Given the description of an element on the screen output the (x, y) to click on. 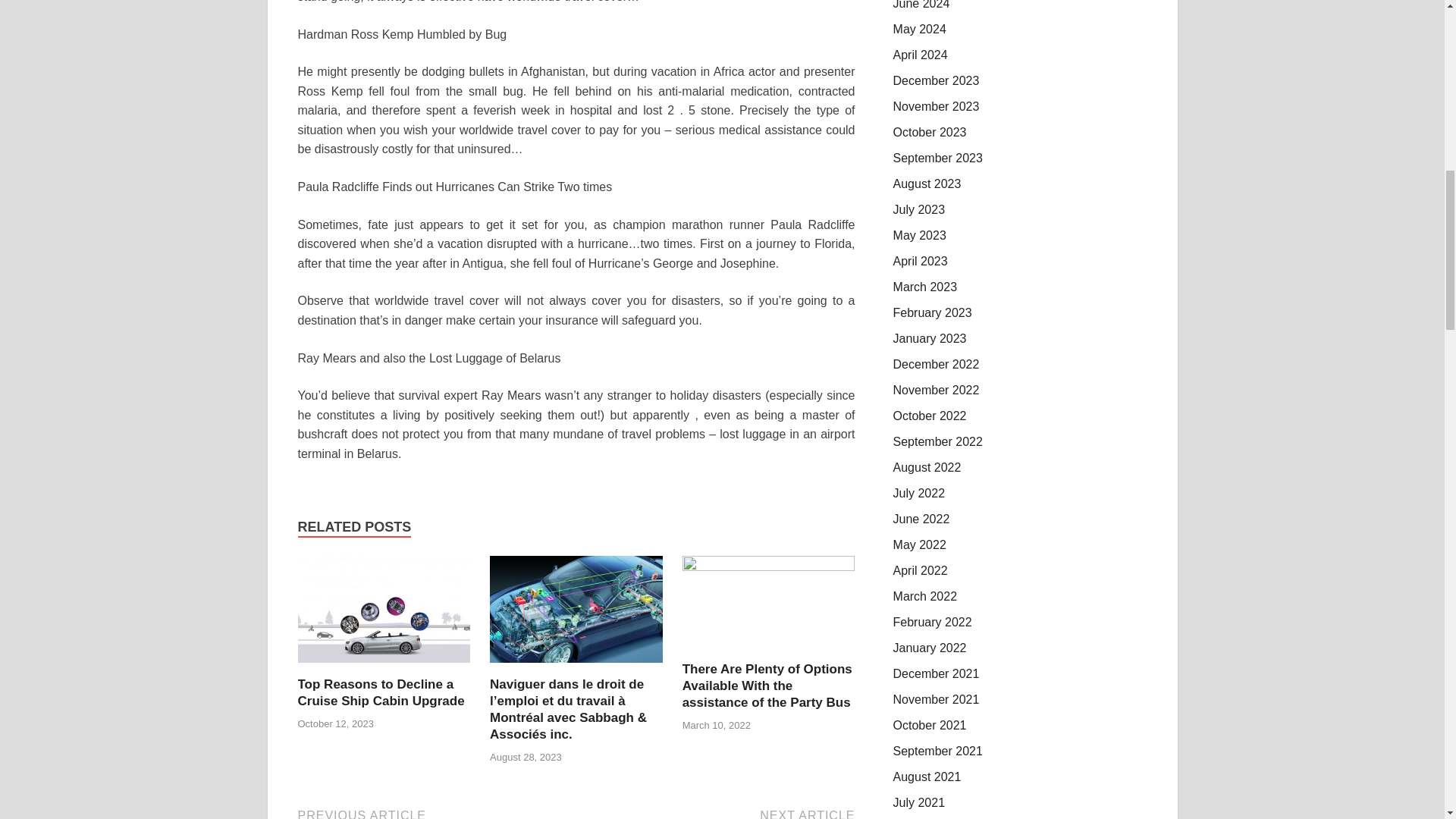
April 2024 (920, 54)
Top Reasons to Decline a Cruise Ship Cabin Upgrade (380, 692)
Top Reasons to Decline a Cruise Ship Cabin Upgrade (380, 692)
Top Reasons to Decline a Cruise Ship Cabin Upgrade (383, 666)
June 2024 (921, 4)
May 2024 (919, 29)
